Given the description of an element on the screen output the (x, y) to click on. 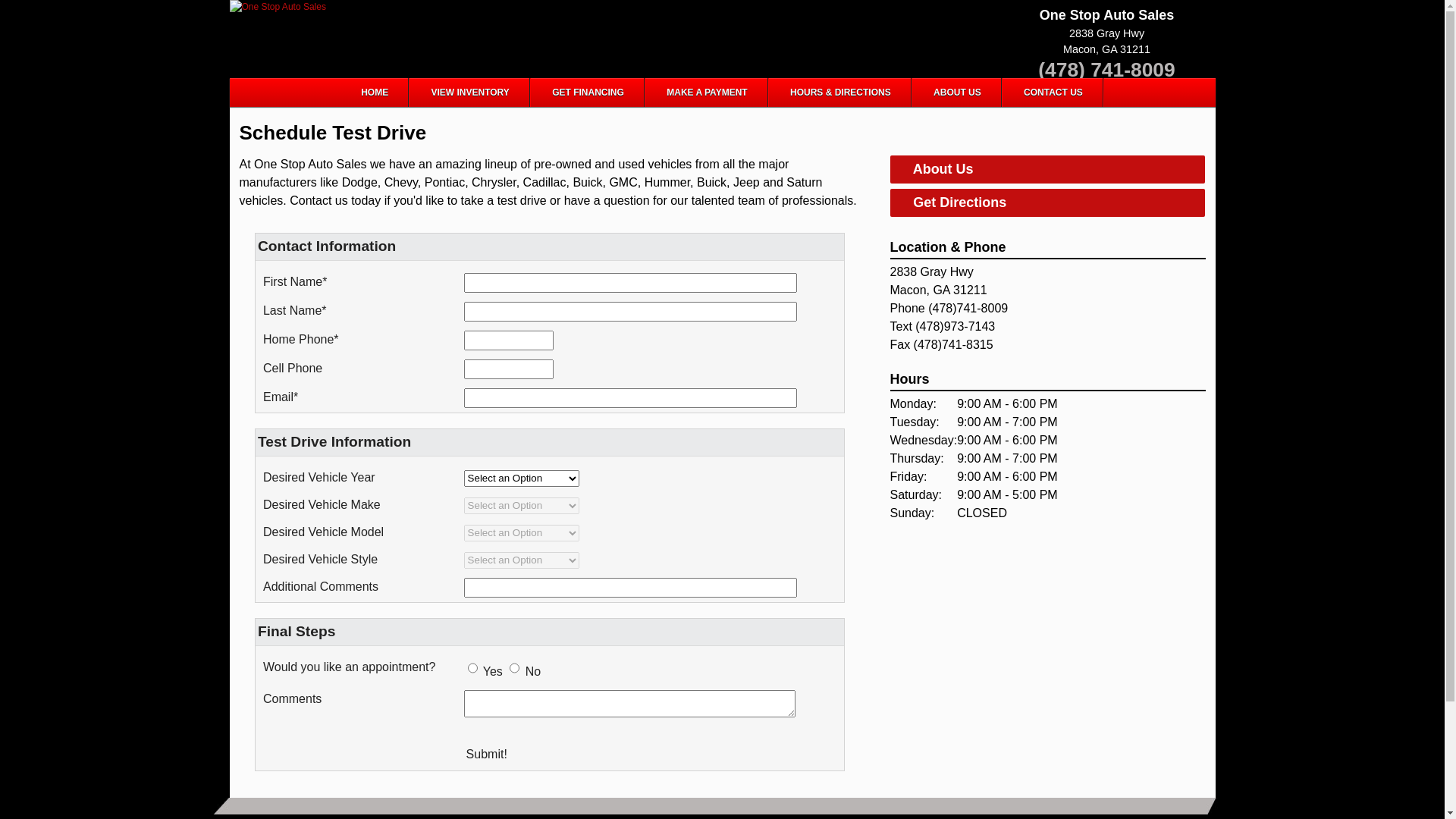
ABOUT US Element type: text (957, 92)
  Get Directions Element type: text (1047, 203)
GET FINANCING Element type: text (588, 92)
  About Us Element type: text (1047, 170)
HOME Element type: text (374, 92)
CONTACT US Element type: text (1052, 92)
VIEW INVENTORY Element type: text (469, 92)
HOURS & DIRECTIONS Element type: text (840, 92)
MAKE A PAYMENT Element type: text (706, 92)
